Given the description of an element on the screen output the (x, y) to click on. 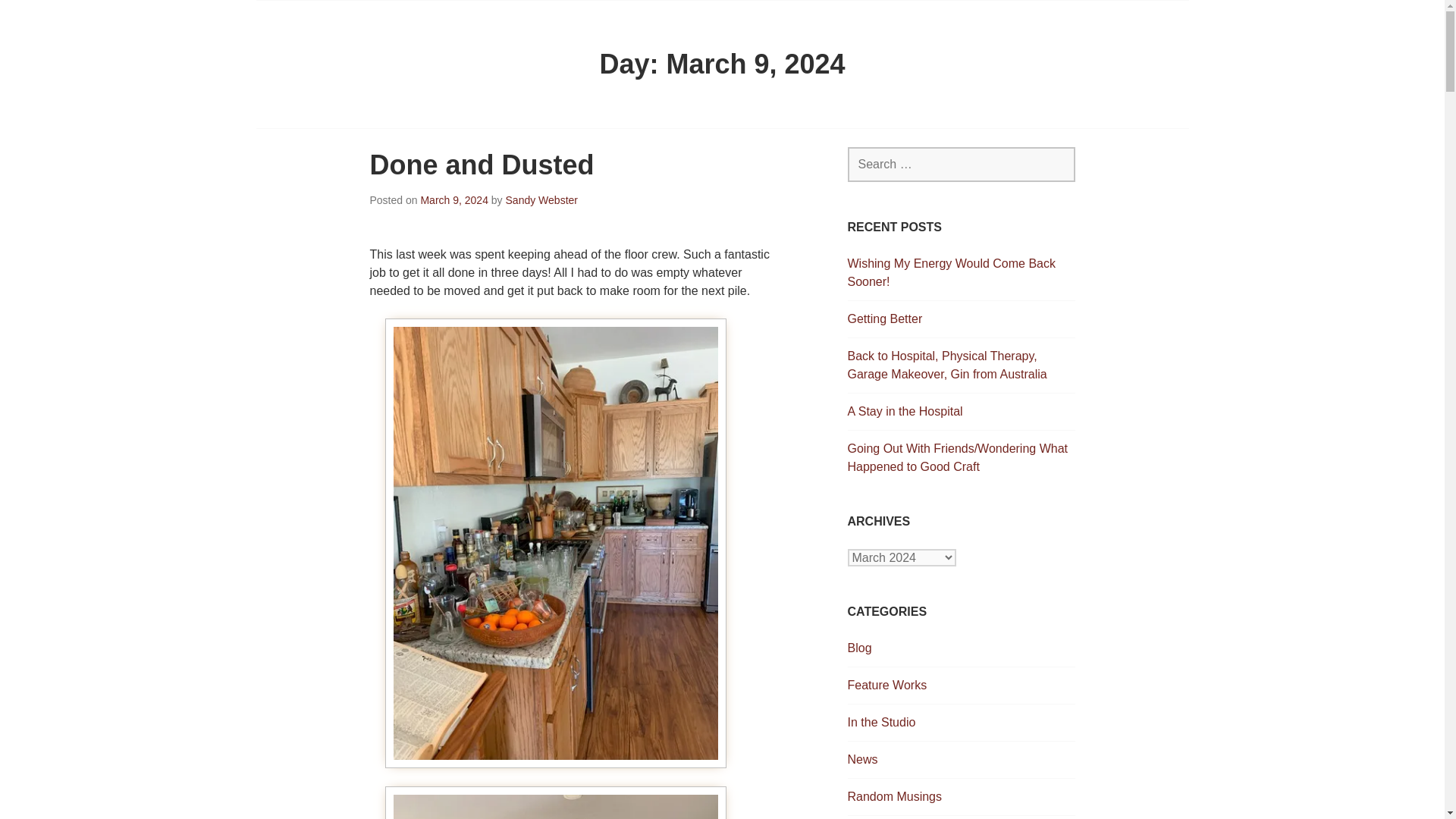
News (862, 758)
March 9, 2024 (453, 200)
Feature Works (887, 684)
Sandy Webster (541, 200)
A Stay in the Hospital (904, 410)
Getting Better (885, 318)
Blog (859, 647)
In the Studio (881, 721)
Random Musings (894, 796)
Wishing My Energy Would Come Back Sooner! (951, 272)
Search (45, 17)
Done and Dusted (481, 164)
